Given the description of an element on the screen output the (x, y) to click on. 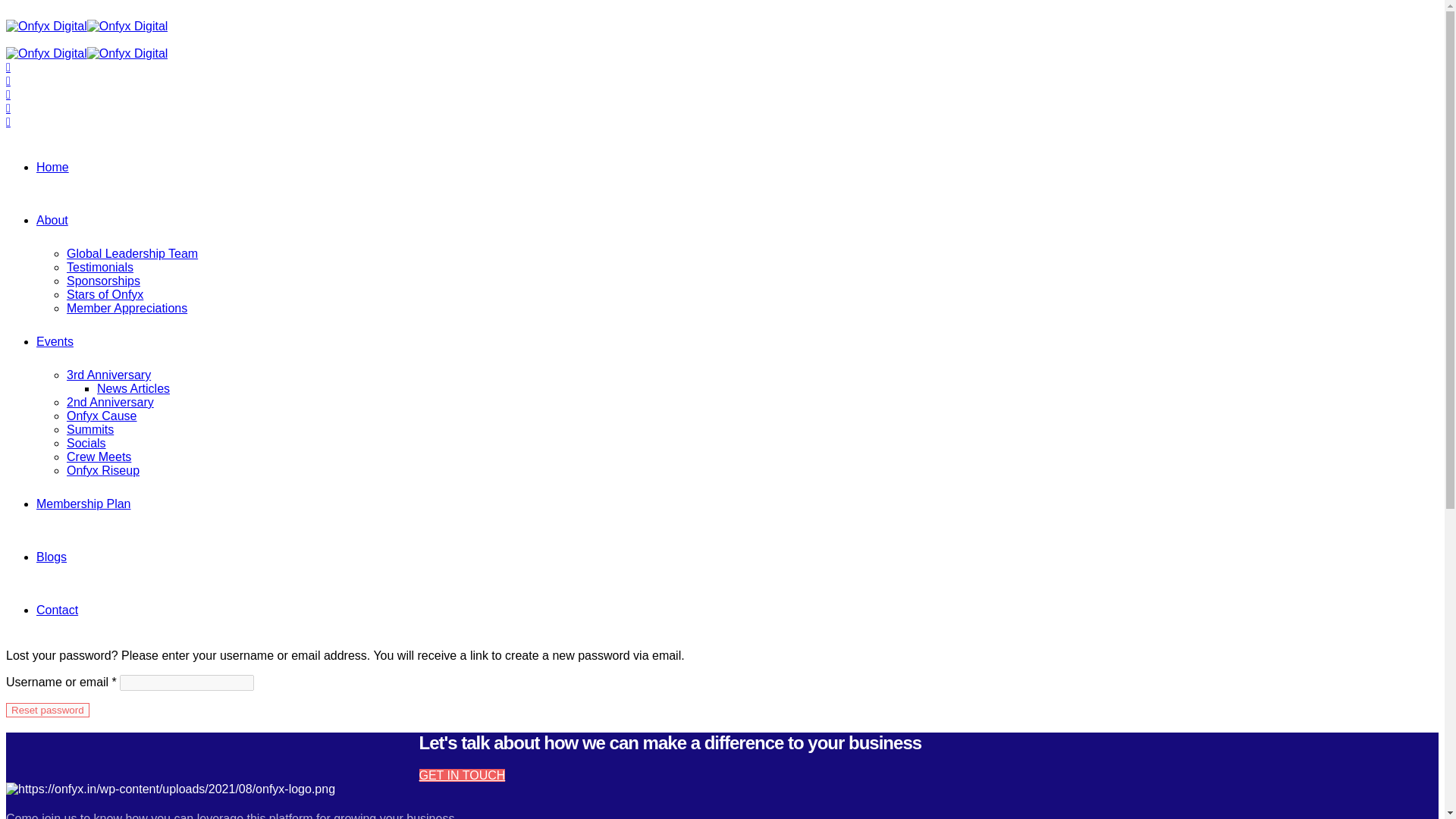
Stars of Onfyx (104, 294)
Testimonials (99, 267)
Onfyx Cause (101, 415)
Member Appreciations (126, 308)
Home (52, 166)
Events (55, 341)
About (52, 219)
Summits (89, 429)
onfyx-logo (169, 789)
Onfyx Riseup (102, 470)
News Articles (133, 388)
GET IN TOUCH (462, 775)
Membership Plan (83, 503)
Socials (86, 442)
Sponsorships (102, 280)
